Given the description of an element on the screen output the (x, y) to click on. 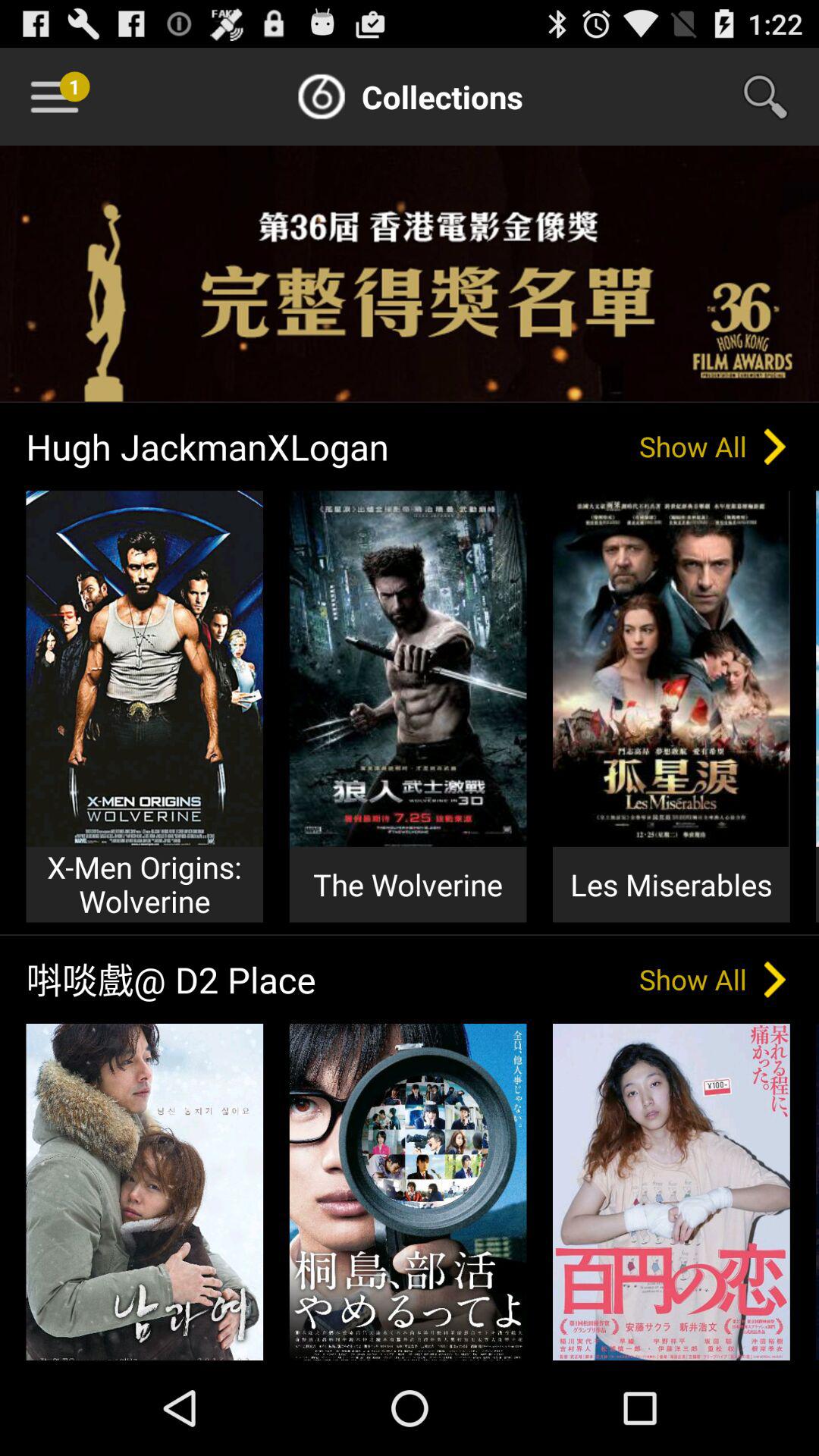
go to search (775, 96)
